Given the description of an element on the screen output the (x, y) to click on. 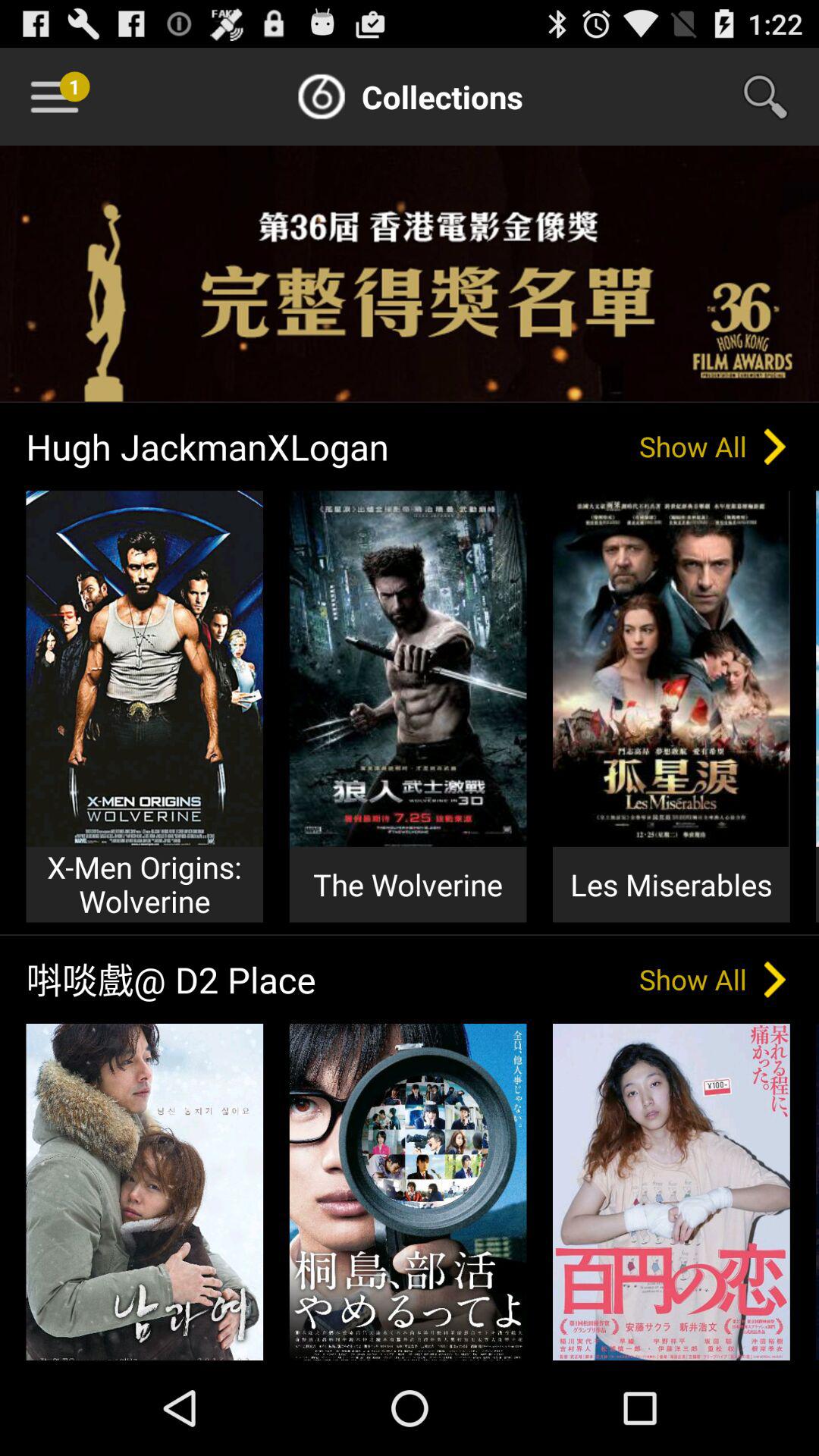
go to search (775, 96)
